Given the description of an element on the screen output the (x, y) to click on. 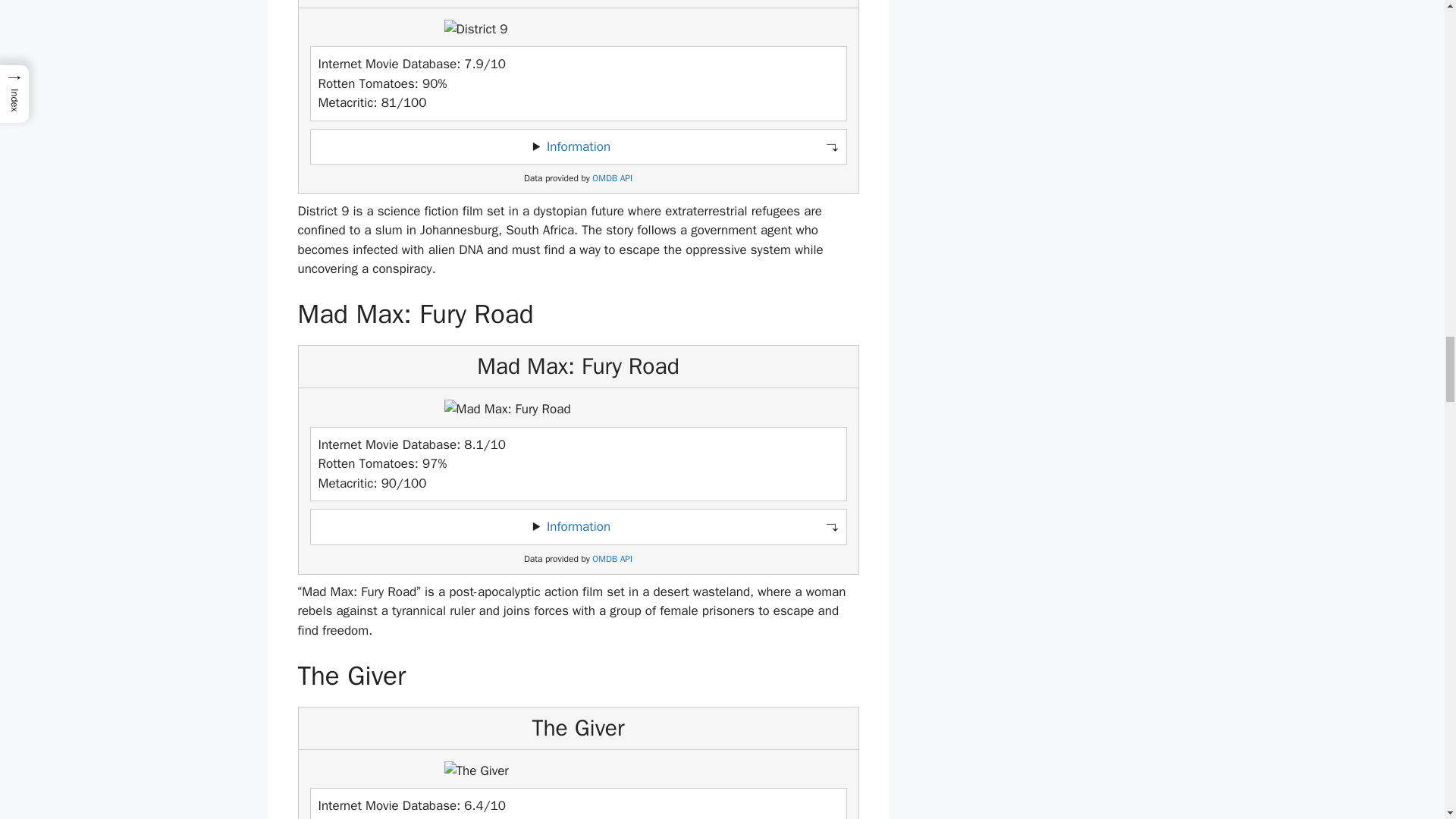
Information (578, 146)
Toggle information (578, 146)
OMDB API (611, 559)
OMDB API (611, 178)
Open Movie Database API (611, 178)
Information (578, 526)
